Given the description of an element on the screen output the (x, y) to click on. 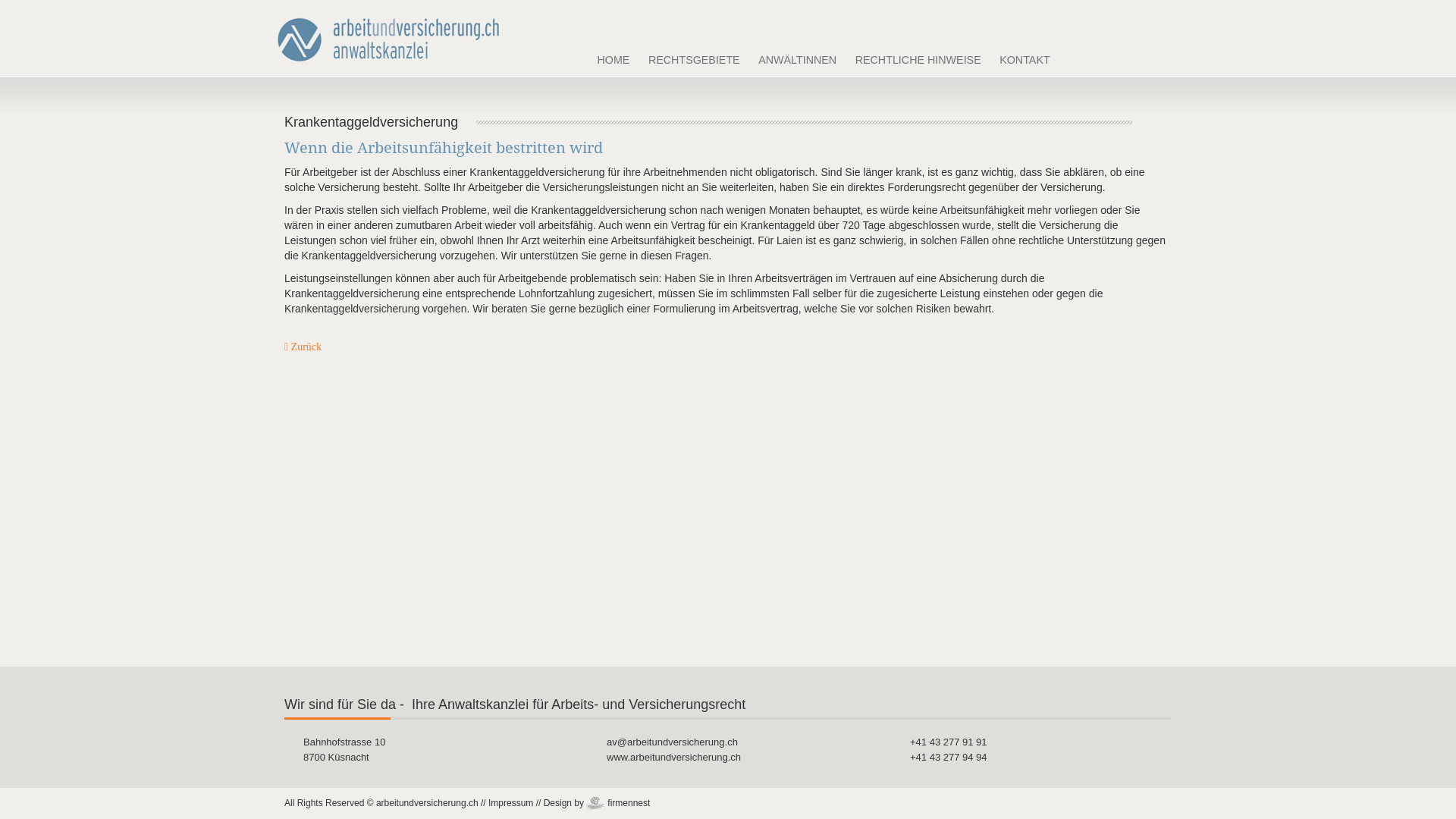
arbeitundversicherung Rechtsanwaltskanzlei Element type: hover (387, 31)
Impressum Element type: text (510, 802)
RECHTLICHE HINWEISE Element type: text (917, 59)
HOME Element type: text (612, 59)
av@arbeitundversicherung.ch Element type: text (671, 741)
KONTAKT Element type: text (1024, 59)
RECHTSGEBIETE Element type: text (694, 59)
firmennest Element type: text (617, 803)
